Given the description of an element on the screen output the (x, y) to click on. 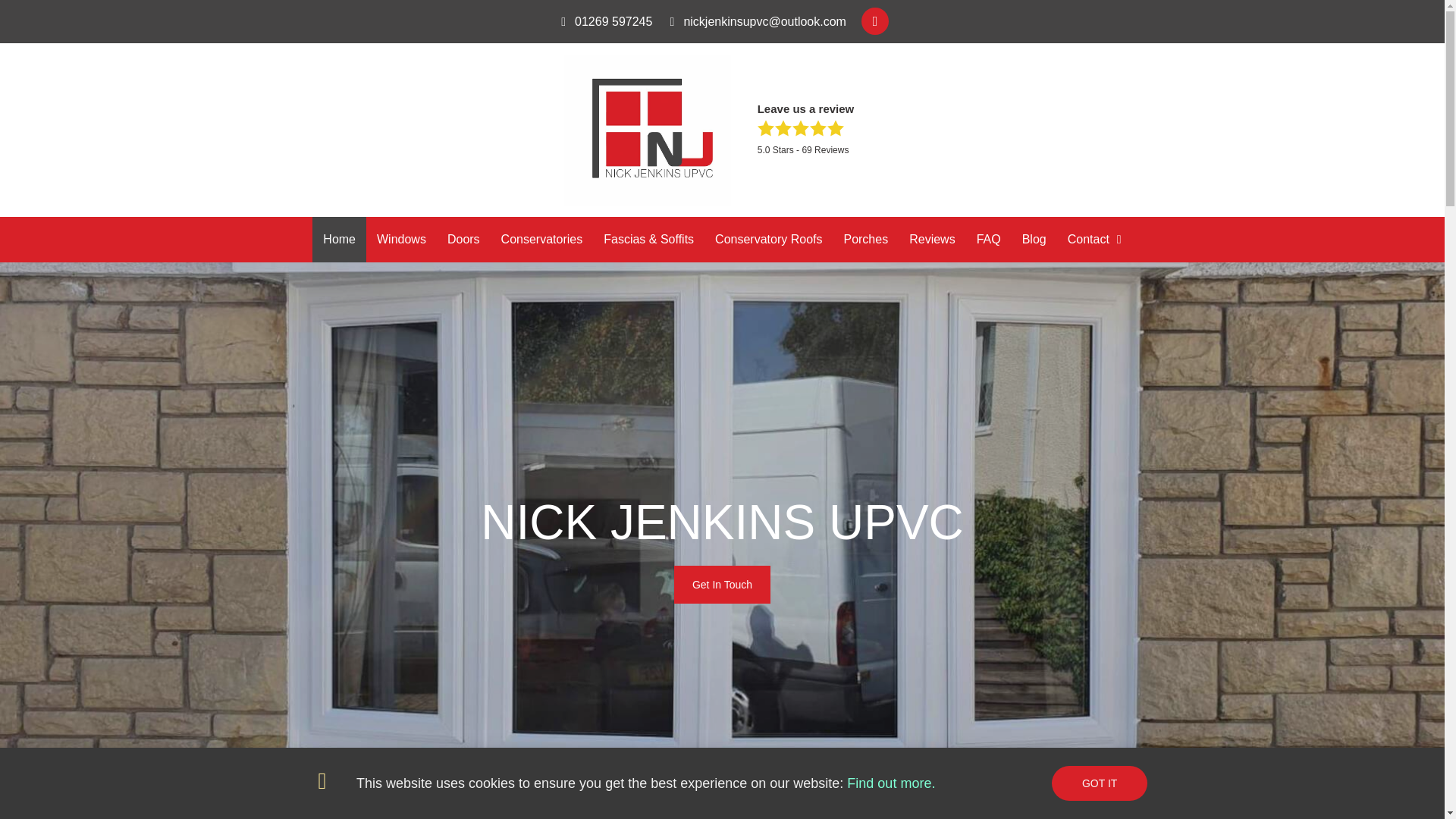
Conservatories (542, 239)
Home (339, 239)
Get In Touch (722, 584)
Blog (1034, 239)
Contact (1094, 239)
Conservatory Roofs (768, 239)
FAQ (988, 239)
Reviews (931, 239)
Porches (865, 239)
Doors (463, 239)
